Given the description of an element on the screen output the (x, y) to click on. 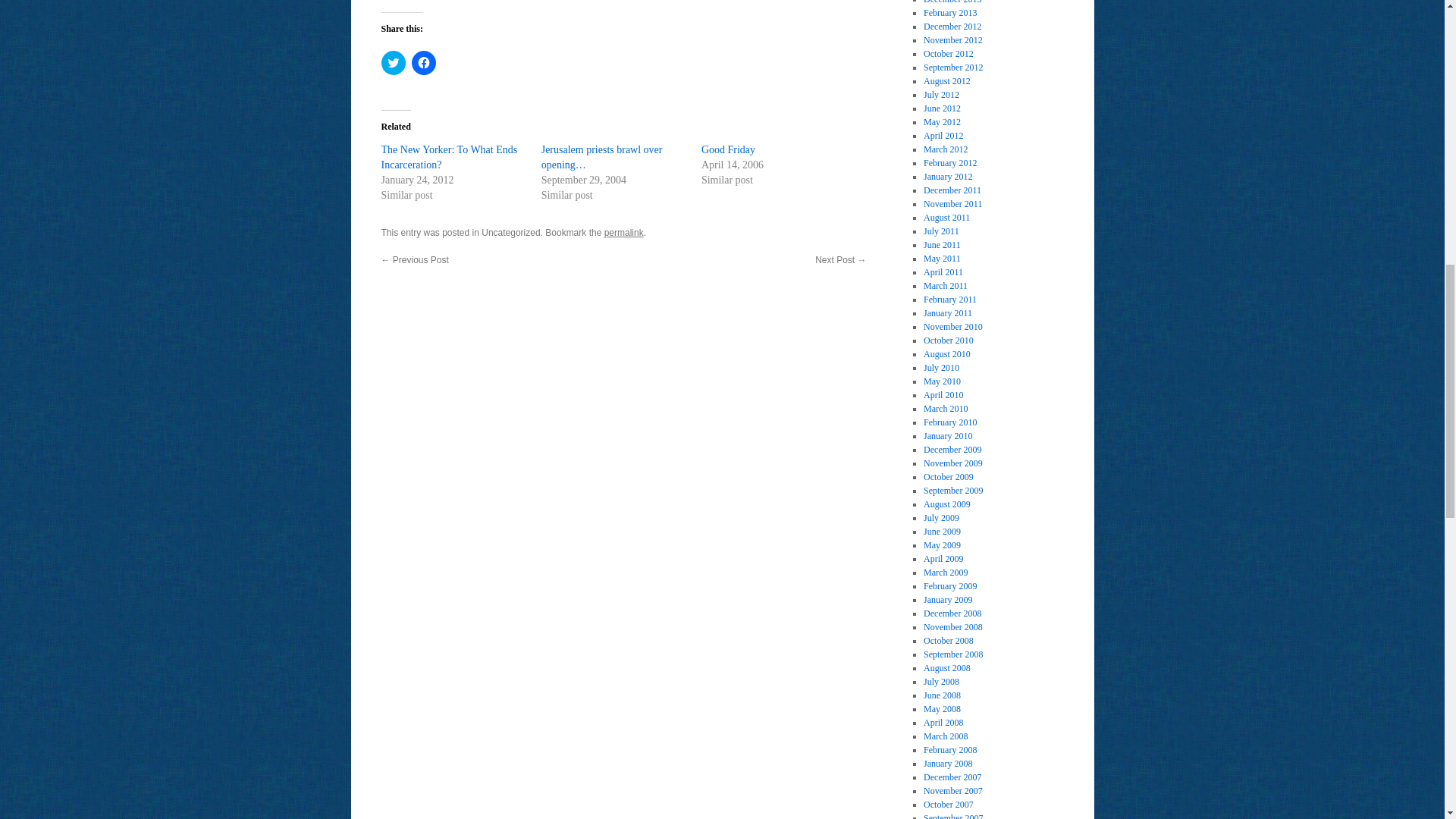
The New Yorker: To What Ends Incarceration? (448, 157)
permalink (623, 232)
Click to share on Facebook (422, 62)
Click to share on Twitter (392, 62)
Good Friday (728, 149)
Permalink to  (623, 232)
The New Yorker: To What Ends Incarceration? (448, 157)
Good Friday (728, 149)
